Given the description of an element on the screen output the (x, y) to click on. 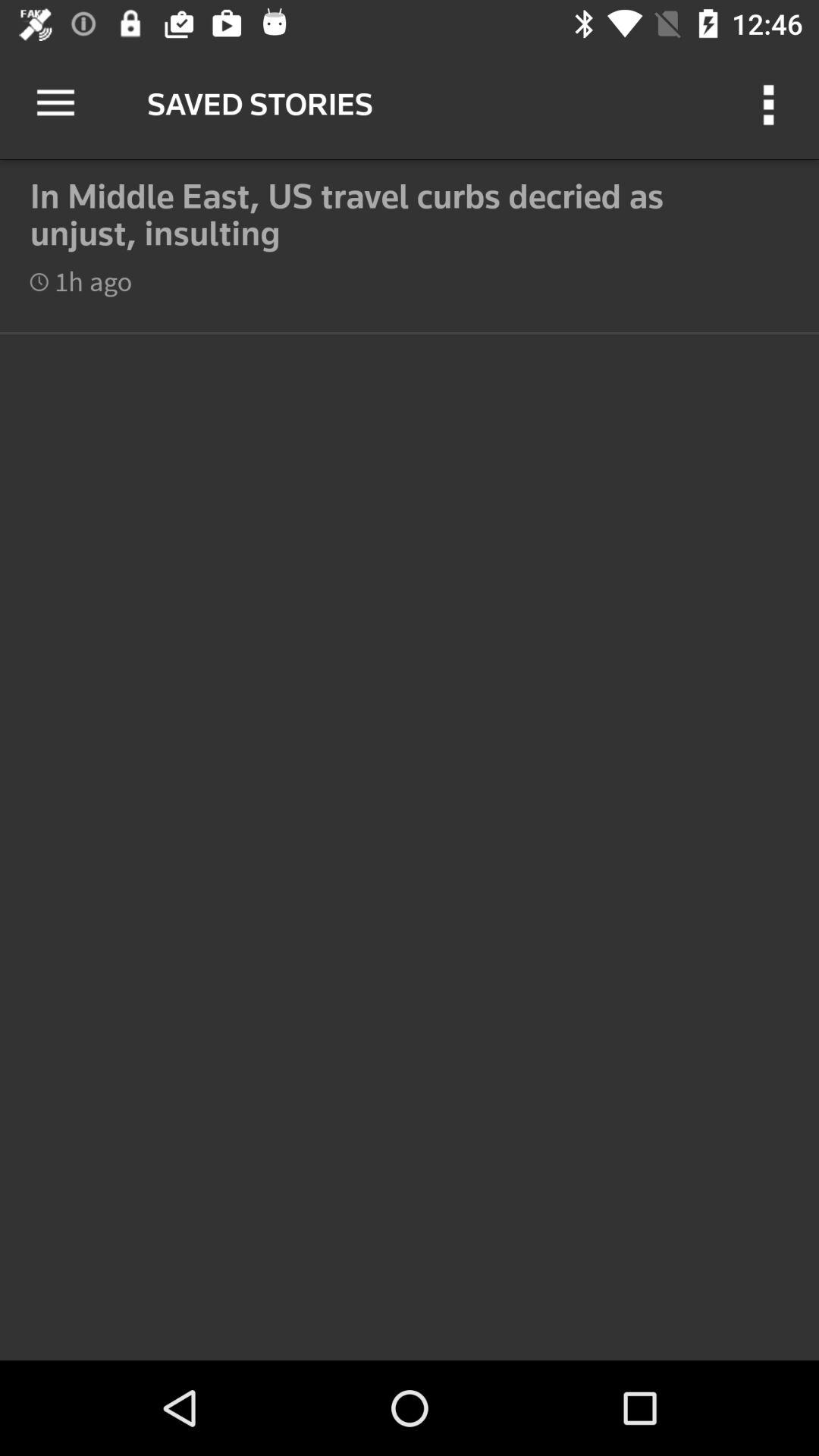
turn off the icon to the left of saved stories icon (55, 103)
